Given the description of an element on the screen output the (x, y) to click on. 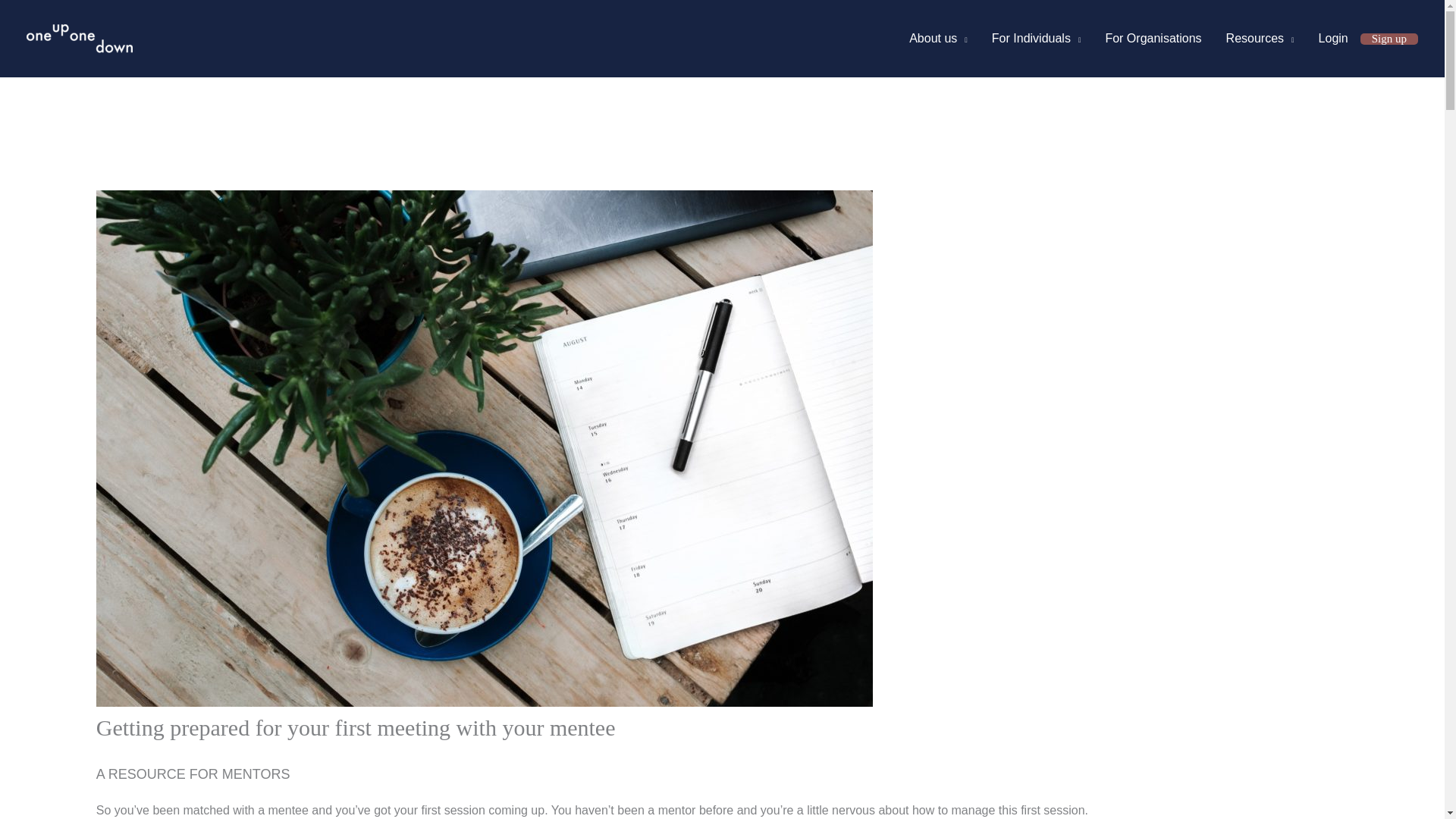
Resources (1260, 38)
Sign up (1388, 39)
Login (1332, 38)
For Individuals (1036, 38)
About us (937, 38)
For Organisations (1152, 38)
